Given the description of an element on the screen output the (x, y) to click on. 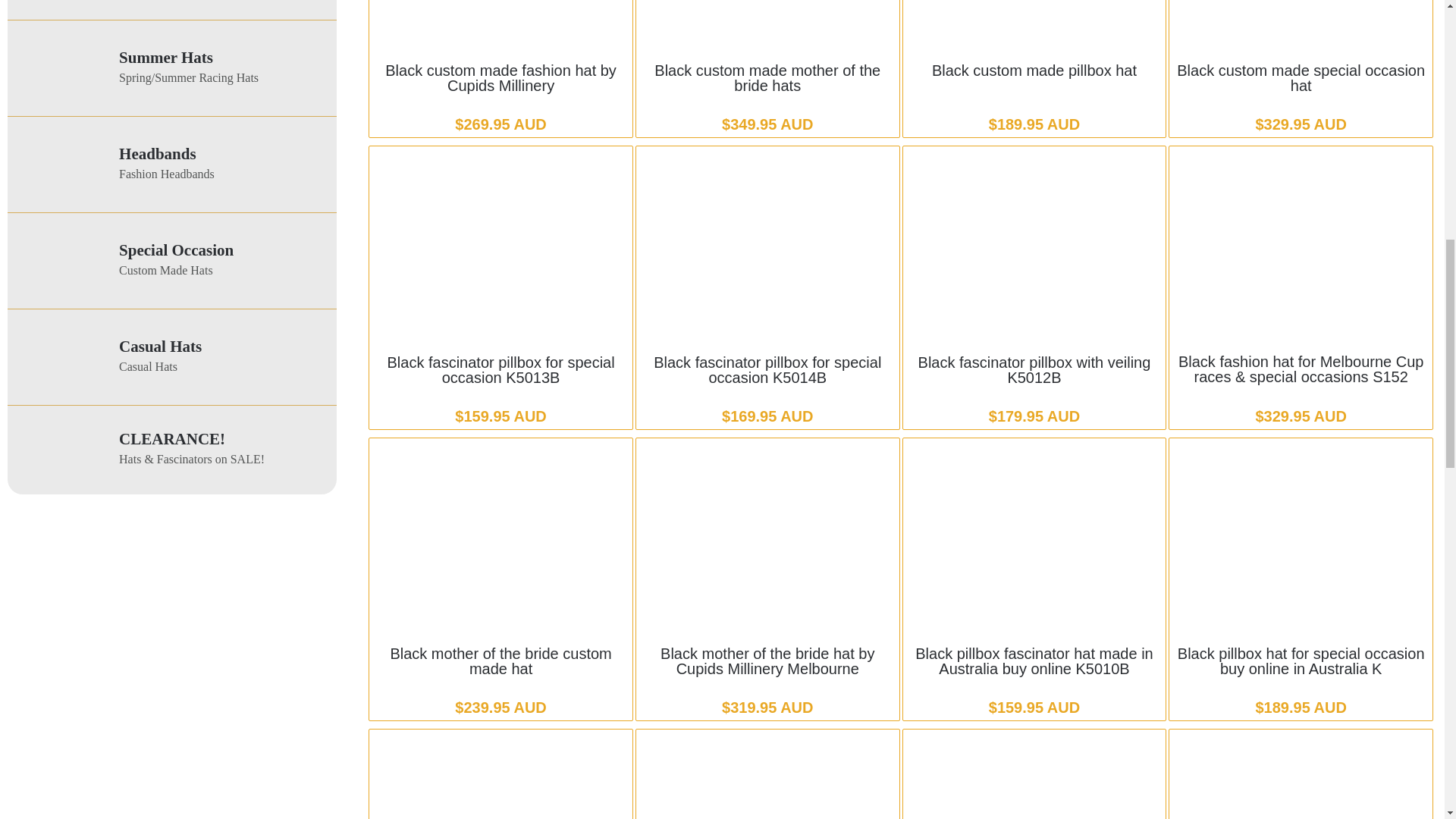
Summer Hats (165, 57)
salesssss-small (61, 450)
JR012-navy-back (61, 357)
MA901-turquoise1 (61, 68)
Headbands (157, 153)
CU454-fuchsia-side (61, 164)
Special Occasion (175, 249)
H5017-wine1 (61, 260)
